Given the description of an element on the screen output the (x, y) to click on. 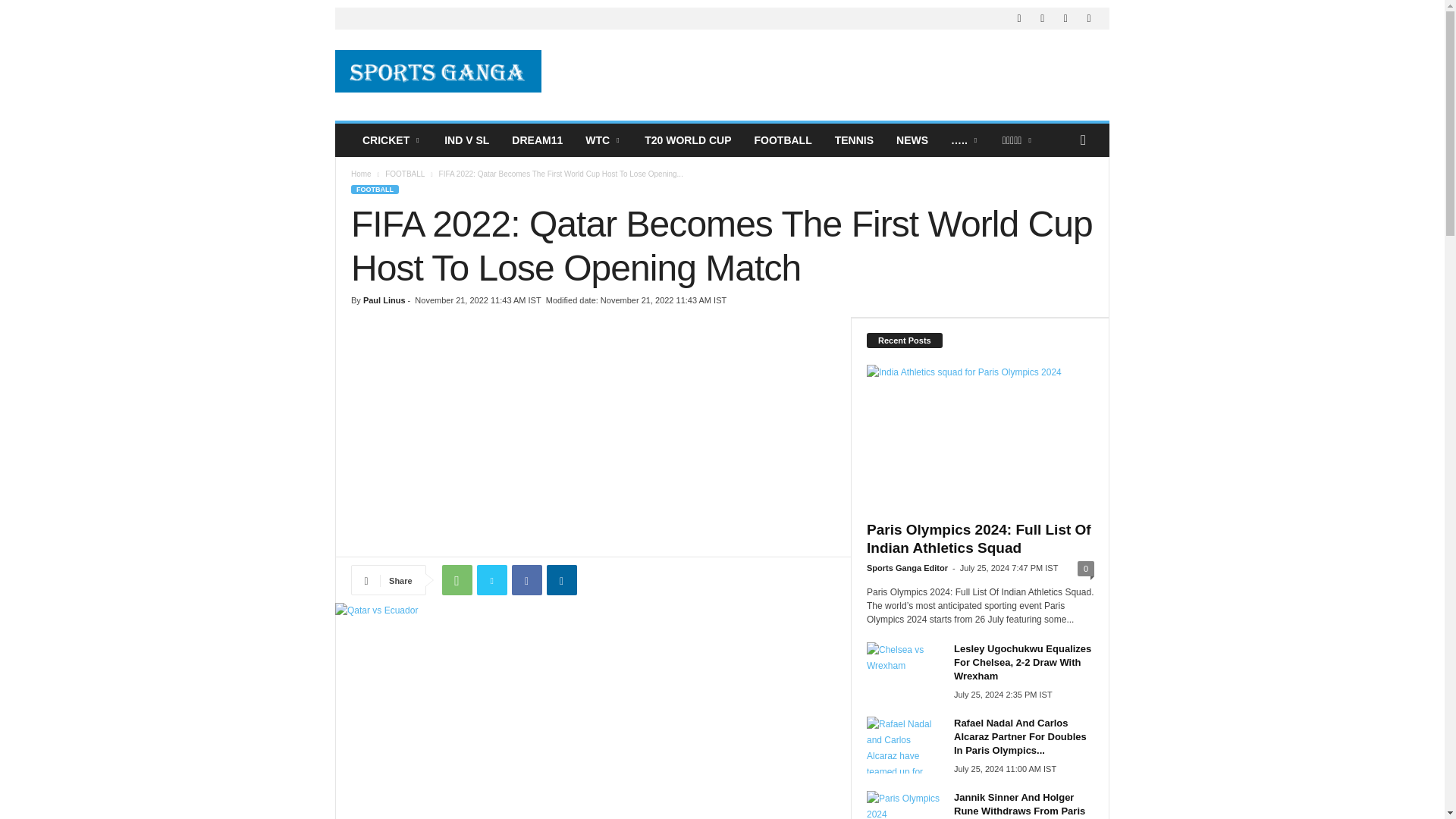
Twitter (1088, 18)
View all posts in FOOTBALL (405, 173)
Linkedin (1065, 18)
Twitter (491, 580)
SPORTS GANGA (437, 70)
Facebook (1018, 18)
WhatsApp (456, 580)
Facebook (526, 580)
Linkedin (561, 580)
Instagram (1042, 18)
